Given the description of an element on the screen output the (x, y) to click on. 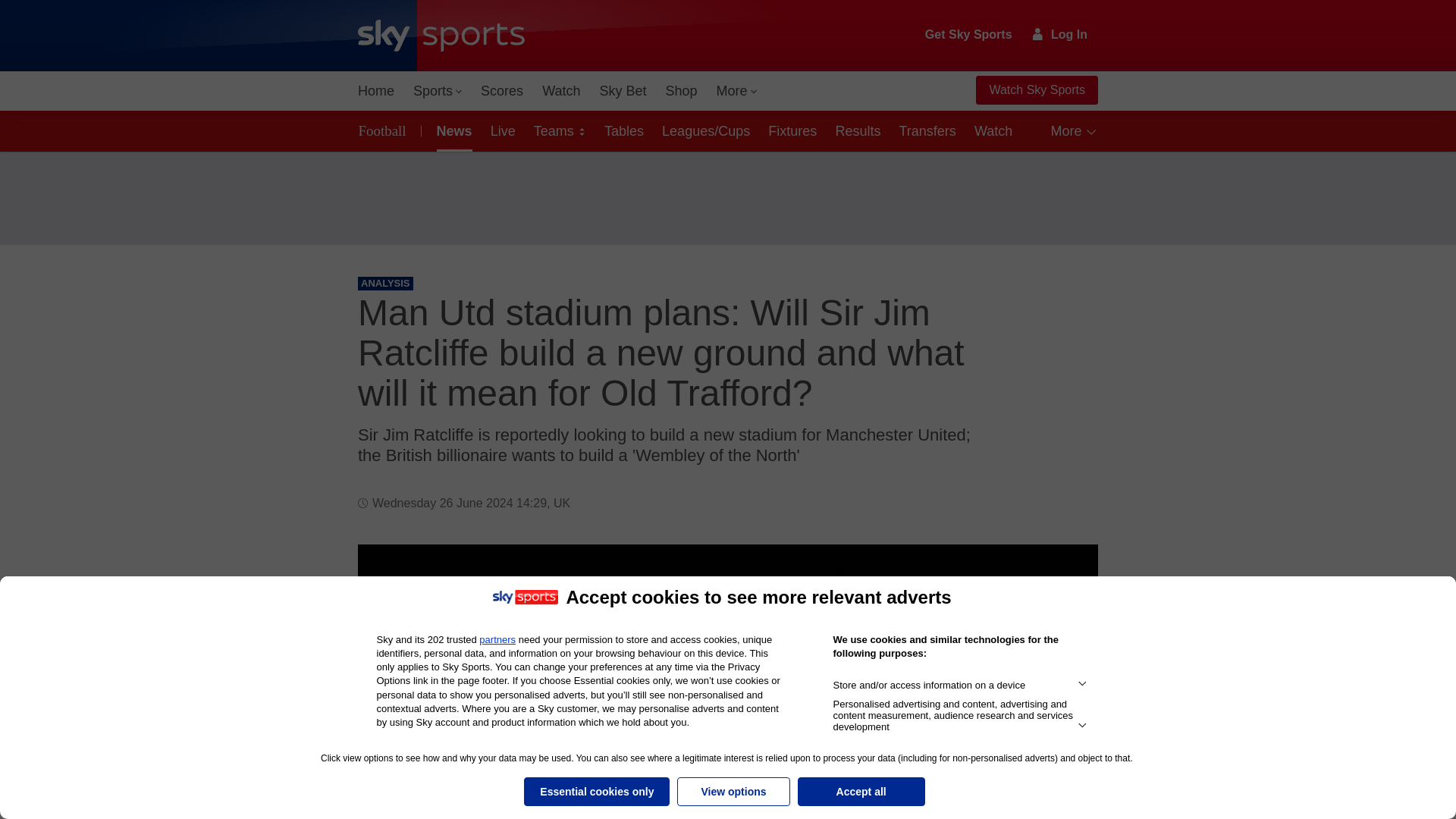
Football (385, 130)
Home (375, 91)
Share (1067, 574)
Watch Sky Sports (1036, 90)
Log In (1060, 33)
Shop (681, 91)
Scores (502, 91)
More (736, 91)
News (451, 130)
Get Sky Sports (968, 34)
Sports (437, 91)
Watch (561, 91)
Sky Bet (622, 91)
